Given the description of an element on the screen output the (x, y) to click on. 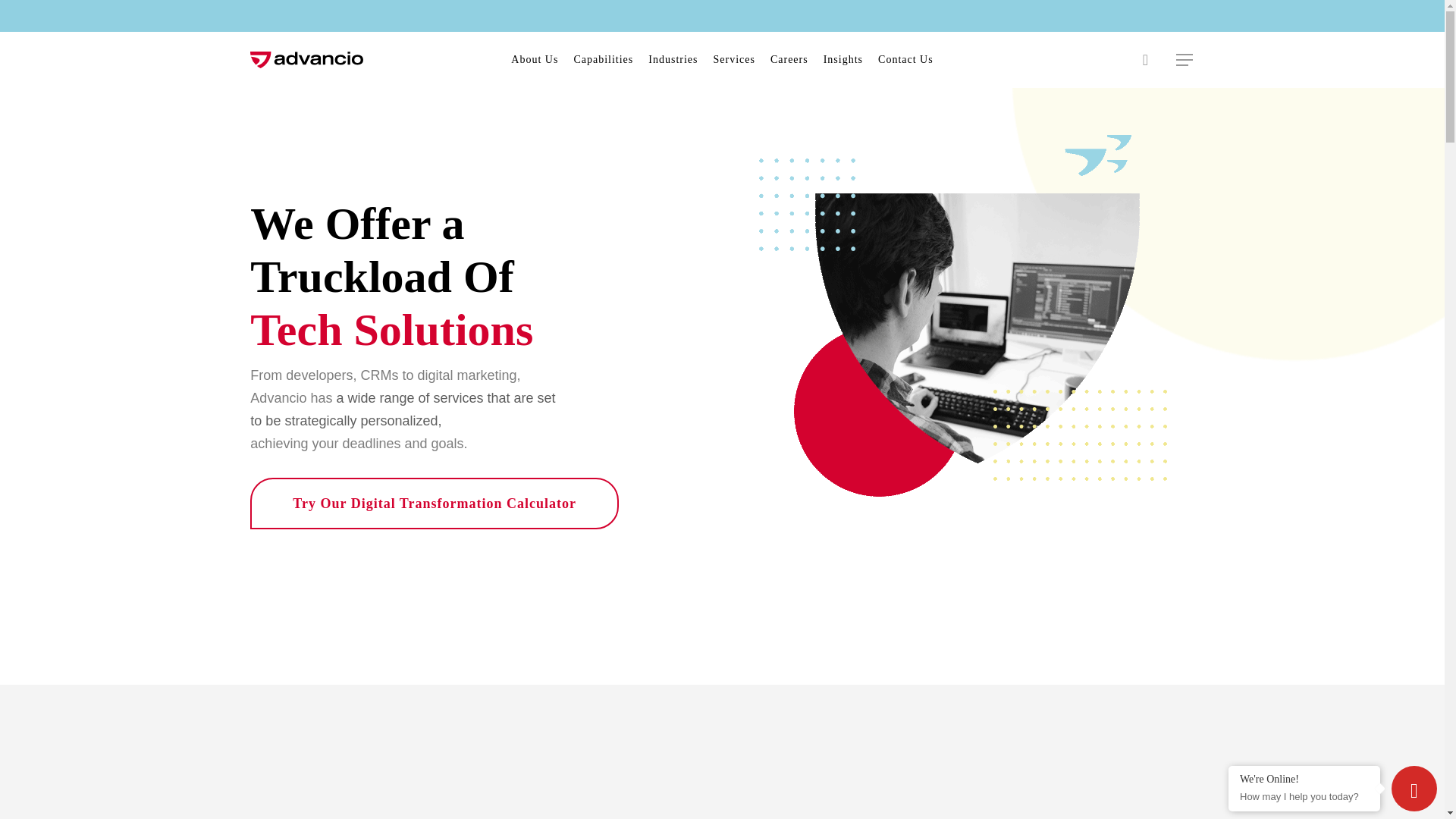
Industries (672, 59)
Capabilities (603, 59)
We're Online! (1304, 777)
About Us (534, 59)
How may I help you today? (1304, 794)
